Given the description of an element on the screen output the (x, y) to click on. 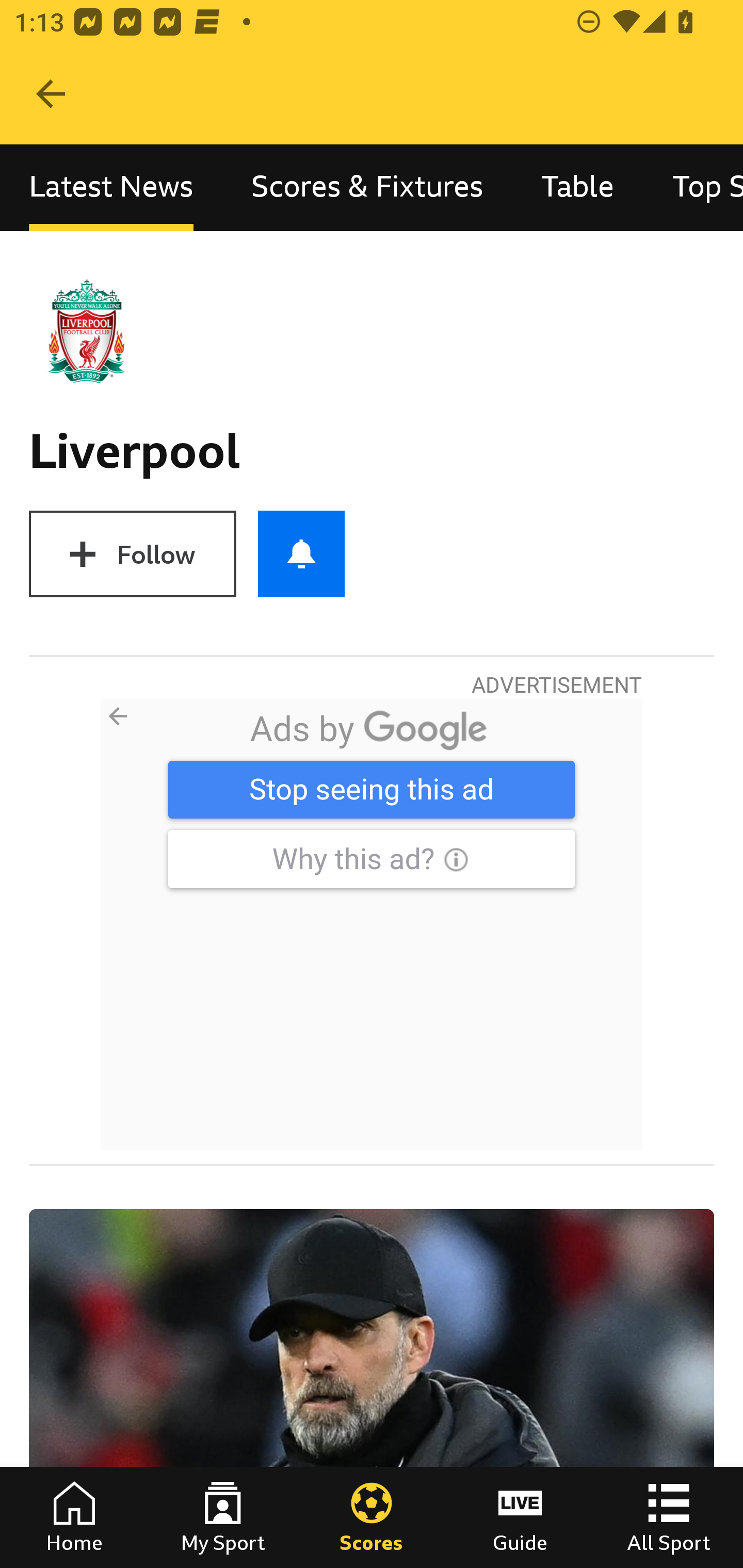
Navigate up (50, 93)
Latest News, selected Latest News (111, 187)
Scores & Fixtures (367, 187)
Table (577, 187)
Top Scorers (693, 187)
Follow Liverpool Follow (132, 554)
Push notifications for Liverpool (300, 554)
Home (74, 1517)
My Sport (222, 1517)
Guide (519, 1517)
All Sport (668, 1517)
